Given the description of an element on the screen output the (x, y) to click on. 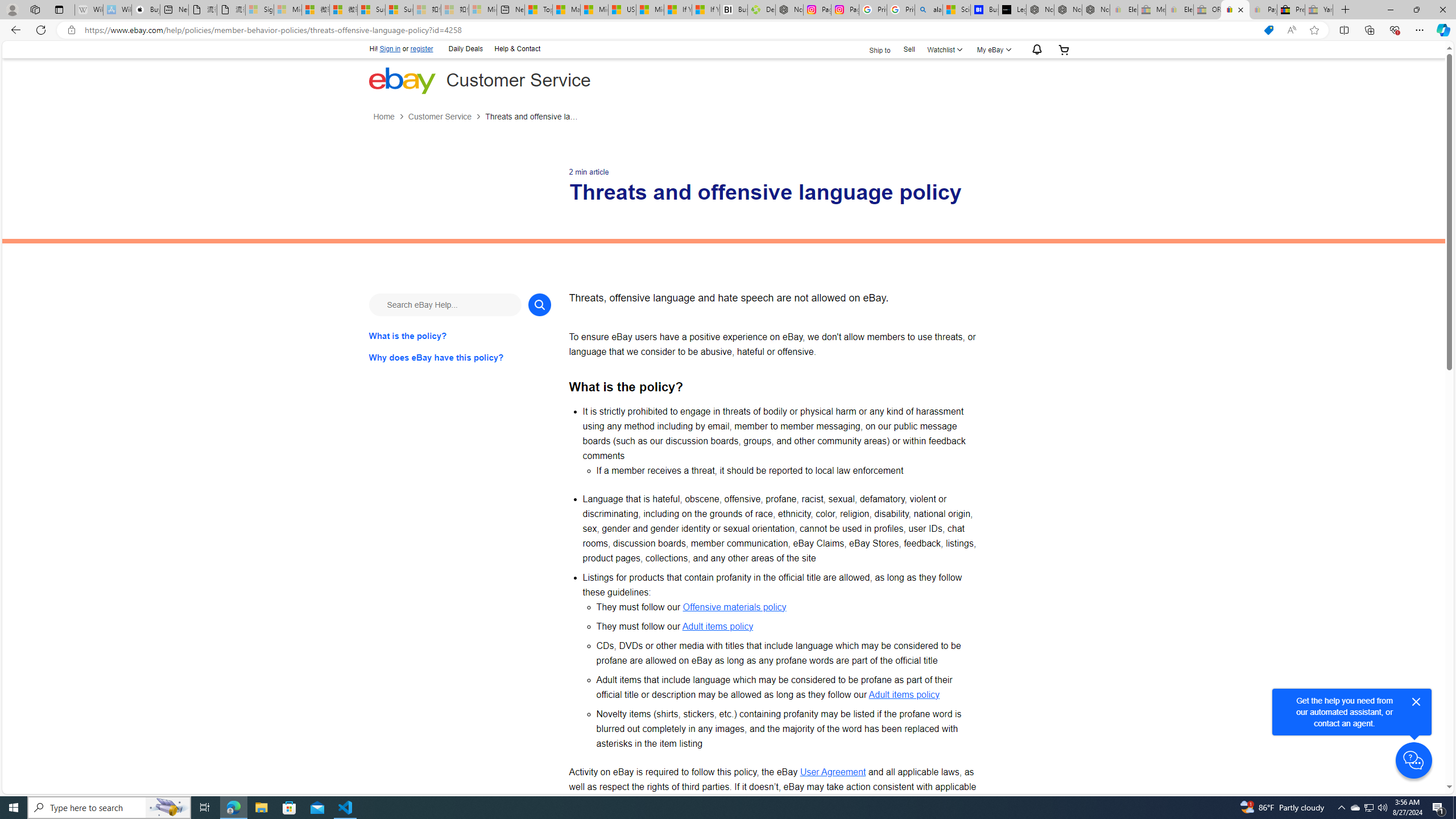
Why does eBay have this policy? (459, 356)
Daily Deals (465, 48)
